Given the description of an element on the screen output the (x, y) to click on. 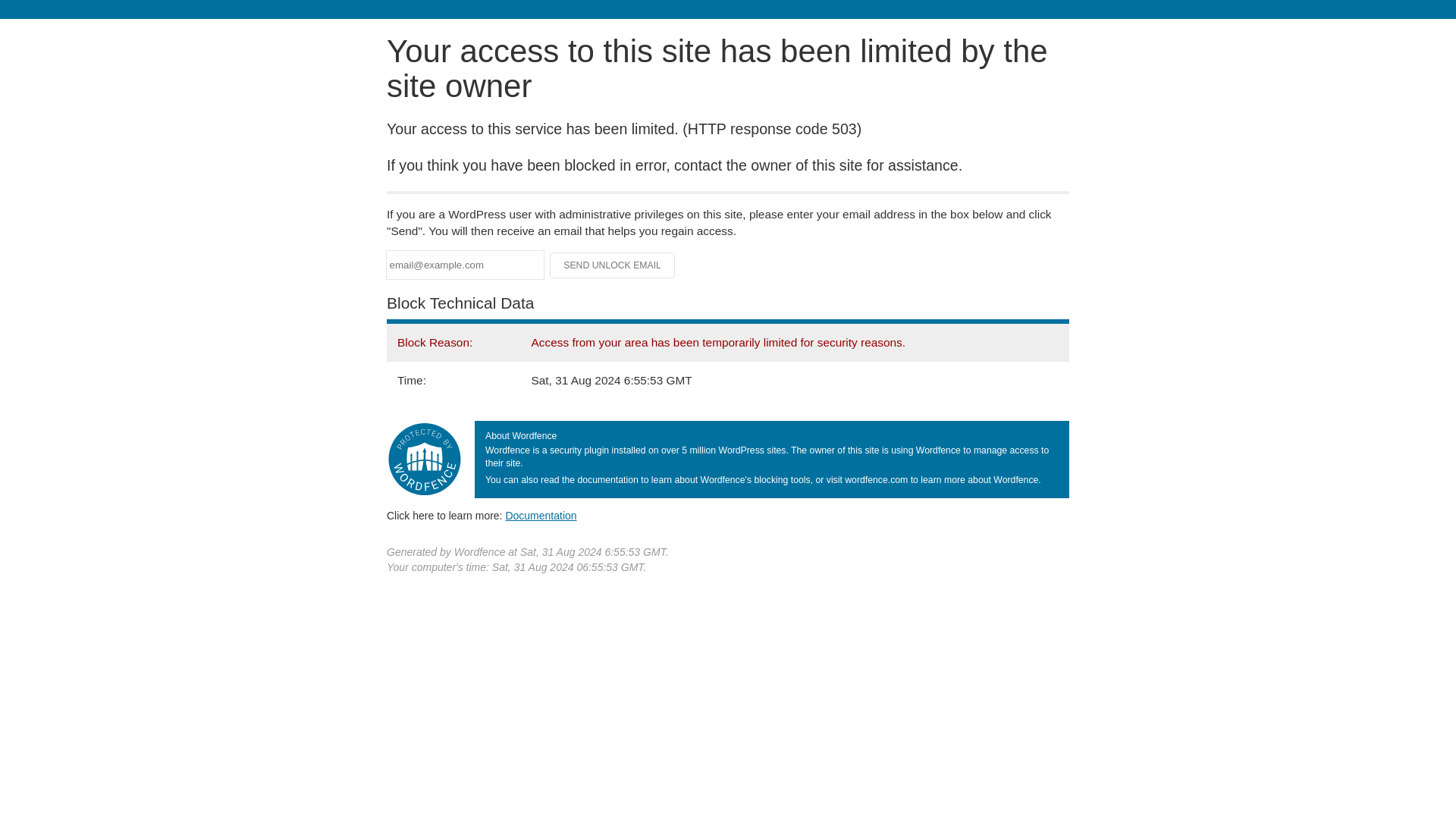
Send Unlock Email (612, 265)
Documentation (540, 515)
Send Unlock Email (612, 265)
